Given the description of an element on the screen output the (x, y) to click on. 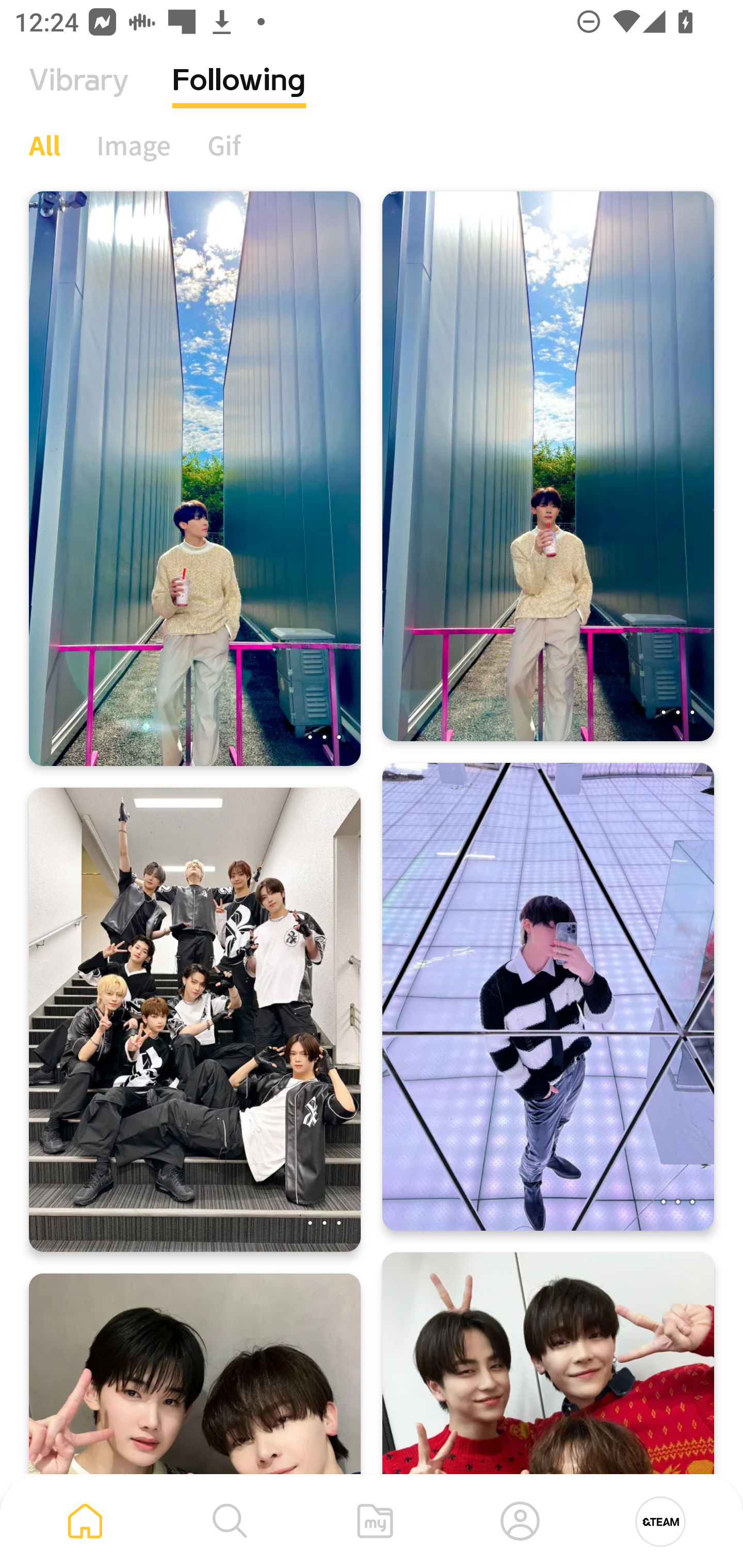
Vibrary (78, 95)
Following (239, 95)
All (44, 145)
Image (133, 145)
Gif (223, 145)
